Given the description of an element on the screen output the (x, y) to click on. 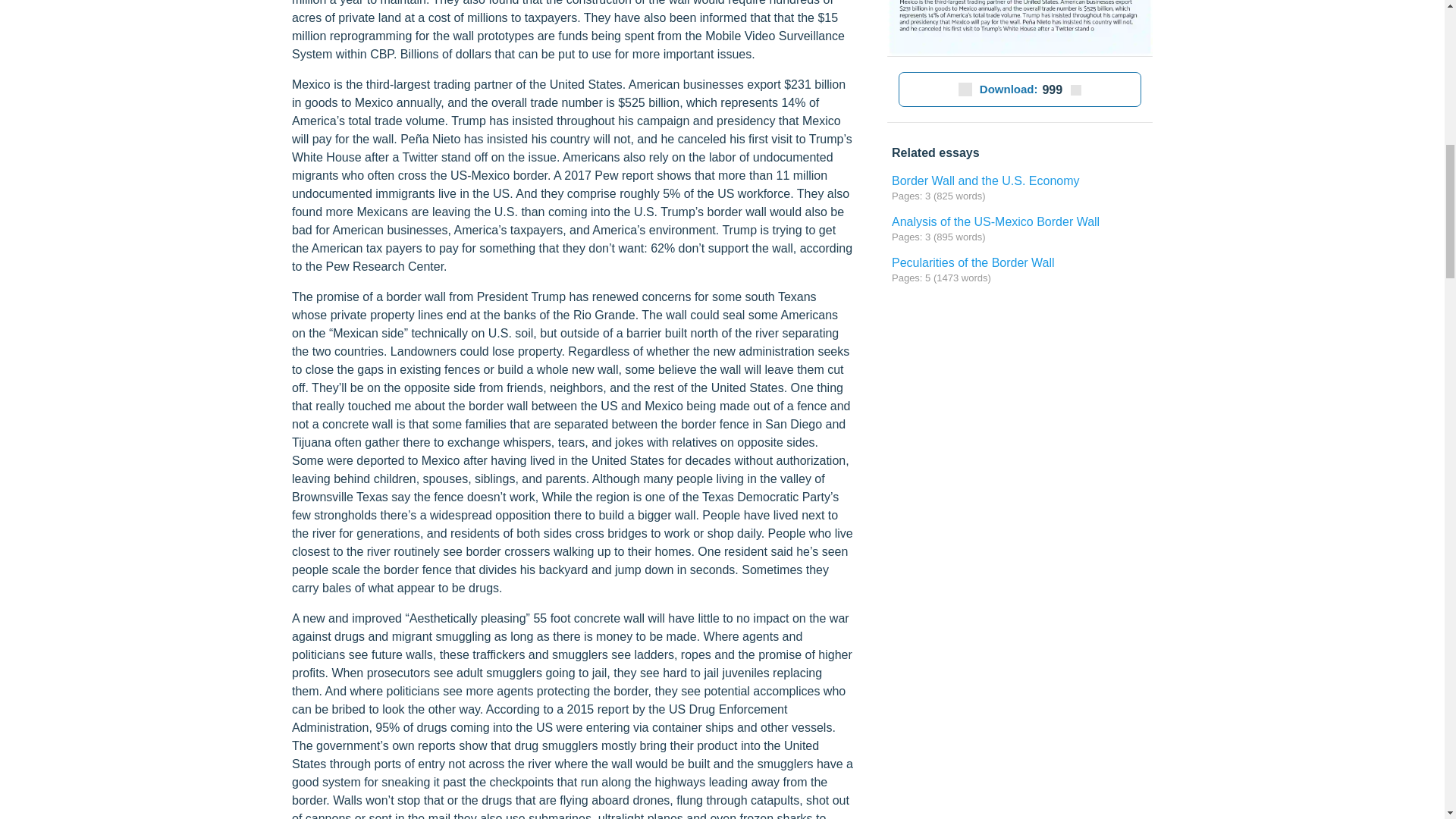
Why the United States should not Construct a Wall (1019, 28)
